Given the description of an element on the screen output the (x, y) to click on. 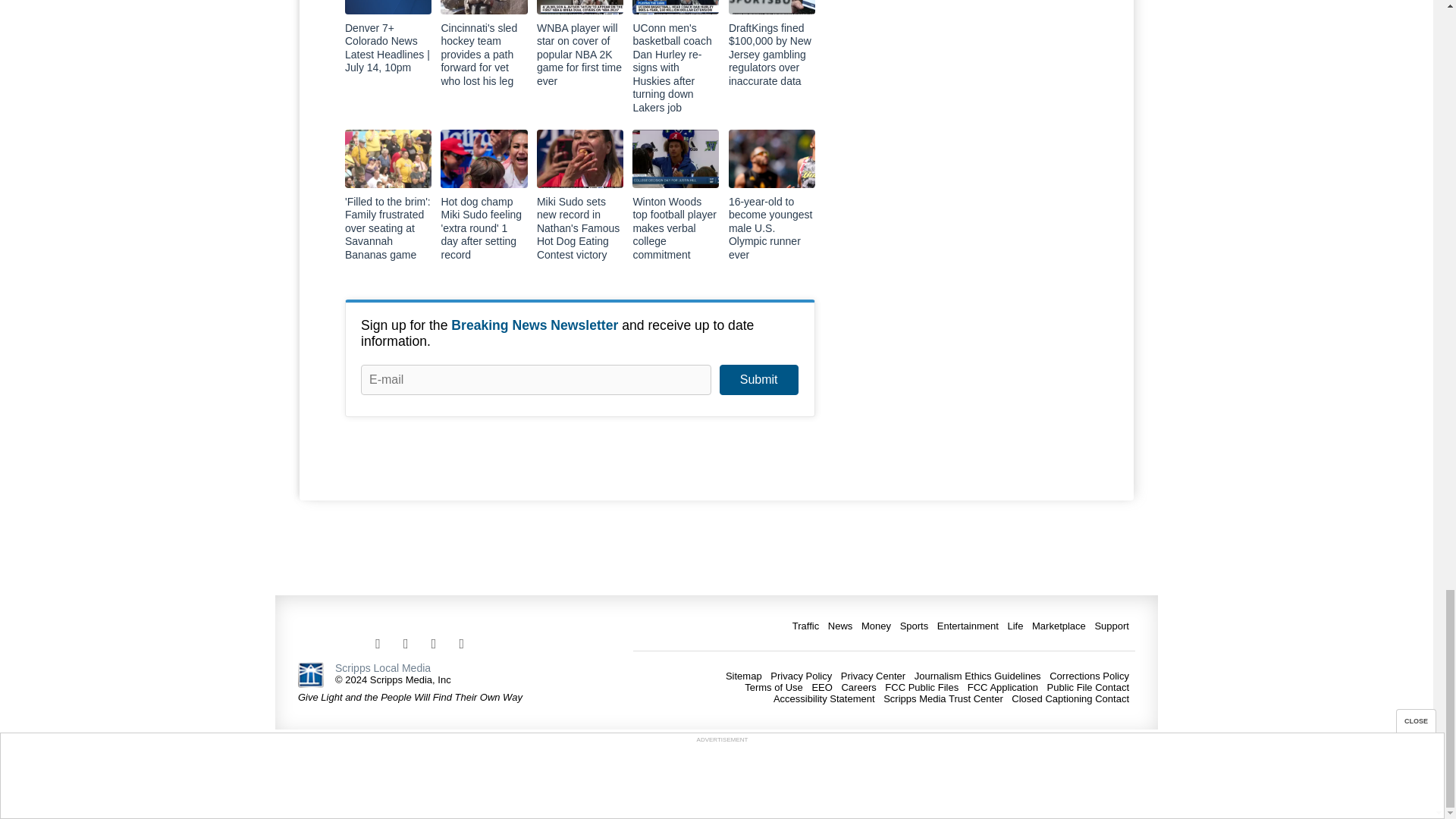
Submit (758, 379)
